Given the description of an element on the screen output the (x, y) to click on. 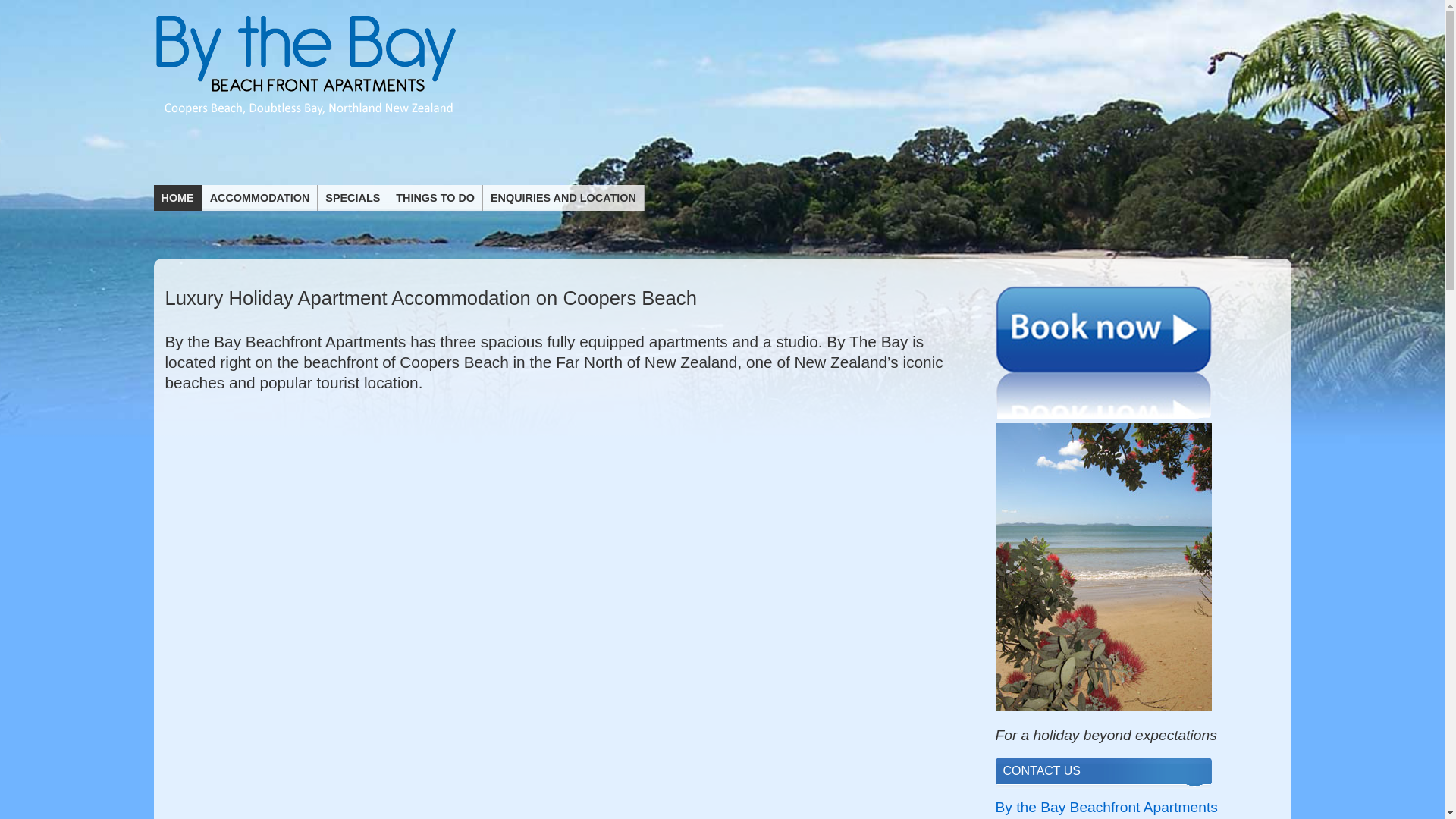
HOME (177, 197)
By the Bay Beachfront Apartments (1105, 806)
Local activities (435, 197)
ENQUIRIES AND LOCATION (564, 197)
Latest news and special offers (352, 197)
THINGS TO DO (435, 197)
Our accommodation (260, 197)
SPECIALS (352, 197)
ACCOMMODATION (260, 197)
Beachfront Apartment Accommodation Coopers Beach (306, 117)
